Given the description of an element on the screen output the (x, y) to click on. 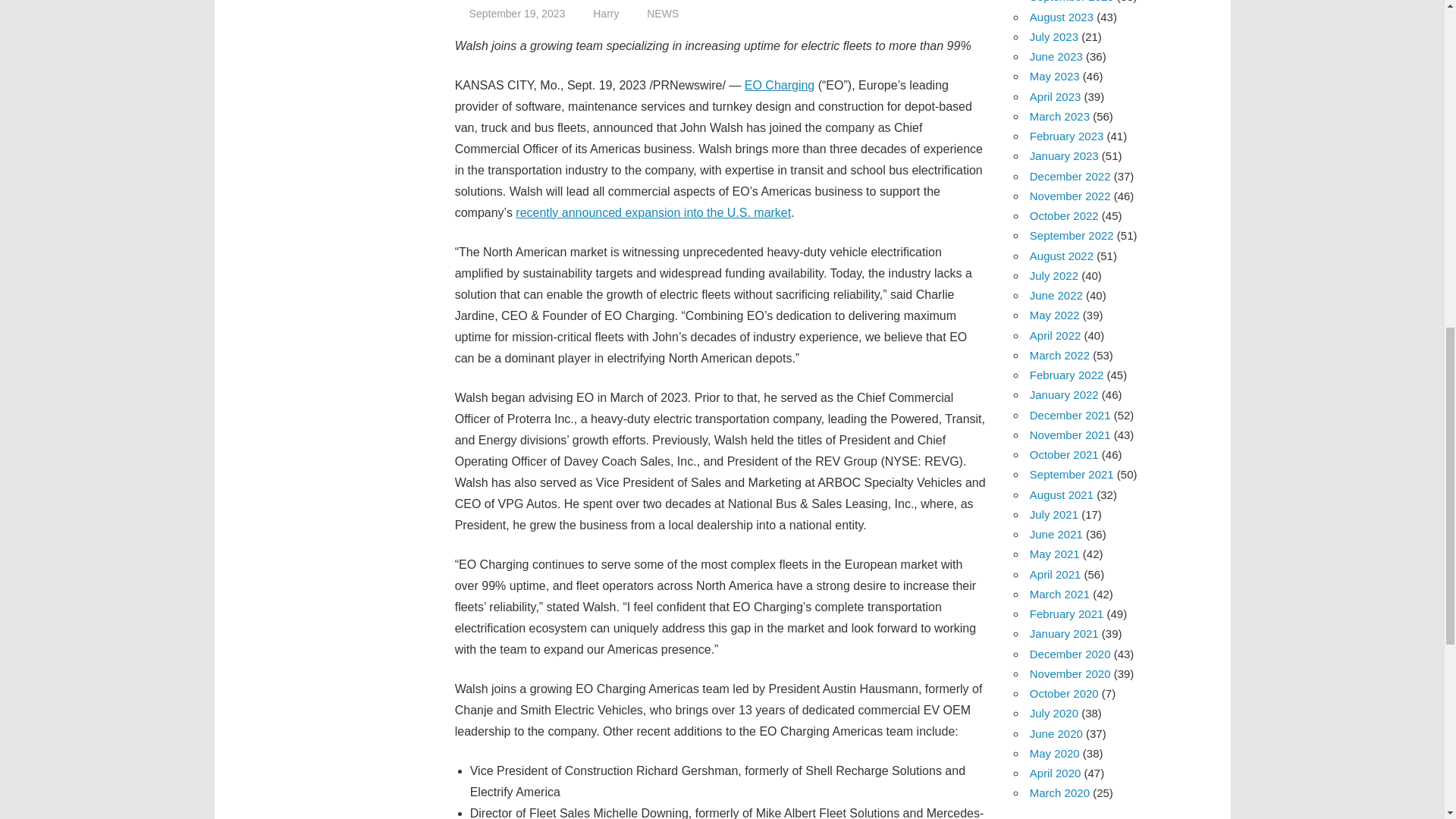
Harry (605, 13)
November 2022 (1069, 195)
October 2022 (1064, 215)
September 2023 (1071, 1)
May 2023 (1054, 75)
July 2023 (1053, 36)
September 2022 (1071, 235)
March 2023 (1059, 115)
February 2023 (1066, 135)
August 2023 (1061, 16)
January 2023 (1064, 155)
December 2022 (1069, 175)
NEWS (662, 13)
September 19, 2023 (517, 13)
April 2023 (1055, 96)
